Given the description of an element on the screen output the (x, y) to click on. 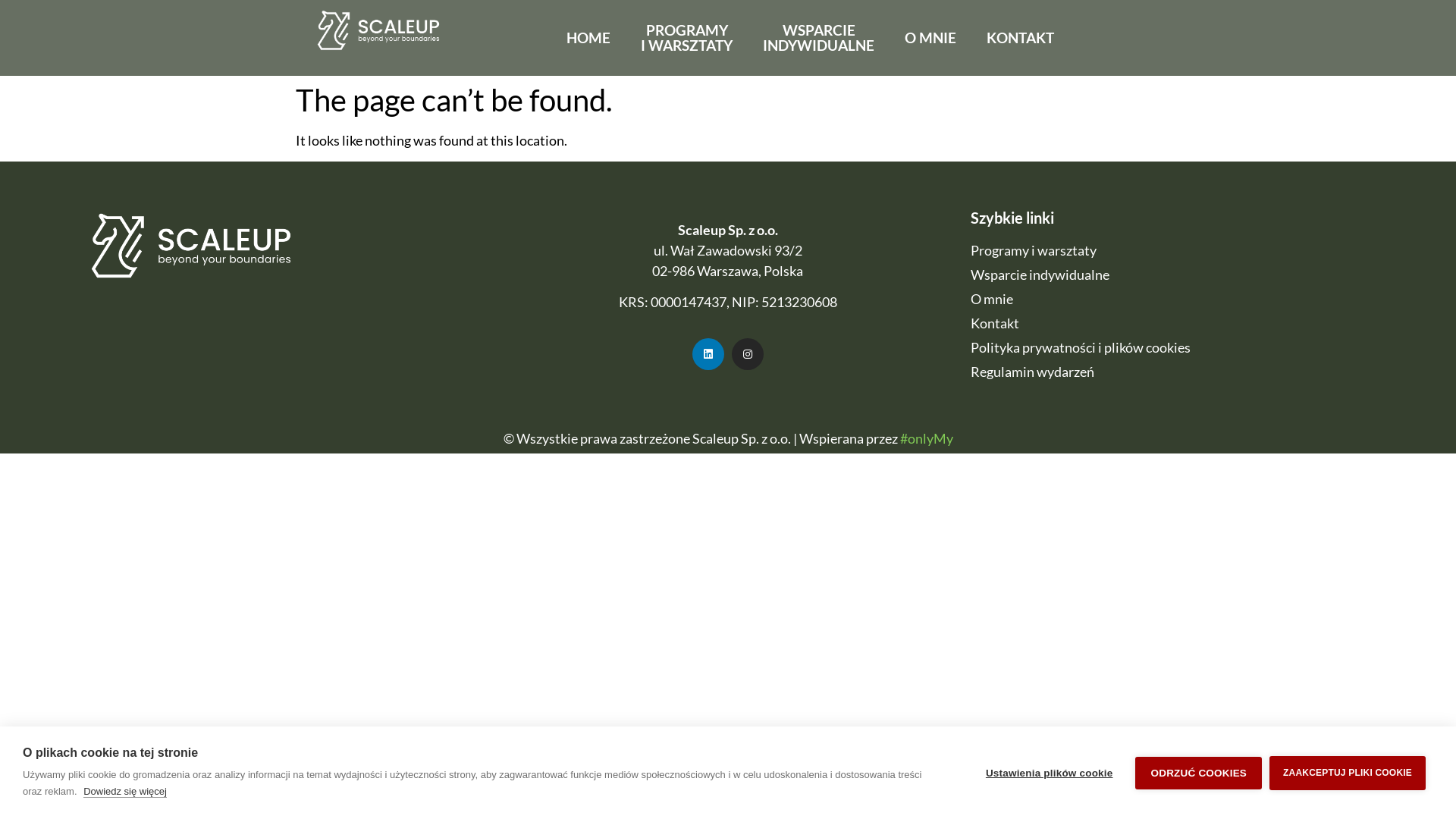
Wsparcie indywidualne Element type: text (1178, 274)
HOME Element type: text (588, 37)
ZAAKCEPTUJ PLIKI COOKIE Element type: text (1347, 772)
#onlyMy Element type: text (925, 437)
Kontakt Element type: text (1178, 323)
Programy i warsztaty Element type: text (1178, 250)
KONTAKT Element type: text (1020, 37)
O mnie Element type: text (1178, 298)
O MNIE Element type: text (930, 37)
WSPARCIE
INDYWIDUALNE Element type: text (818, 37)
PROGRAMY
I WARSZTATY Element type: text (686, 37)
